Given the description of an element on the screen output the (x, y) to click on. 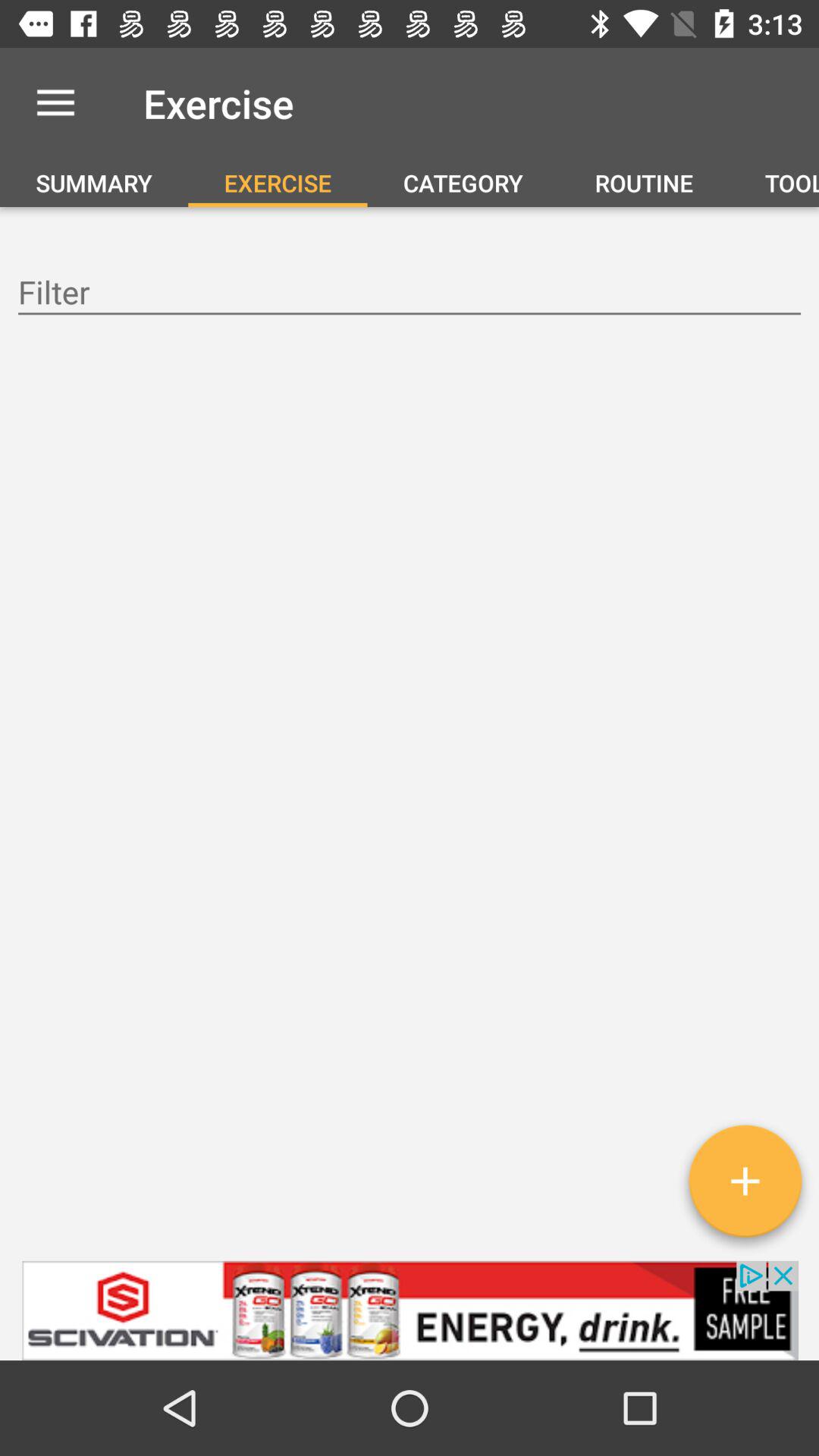
filter (409, 294)
